Given the description of an element on the screen output the (x, y) to click on. 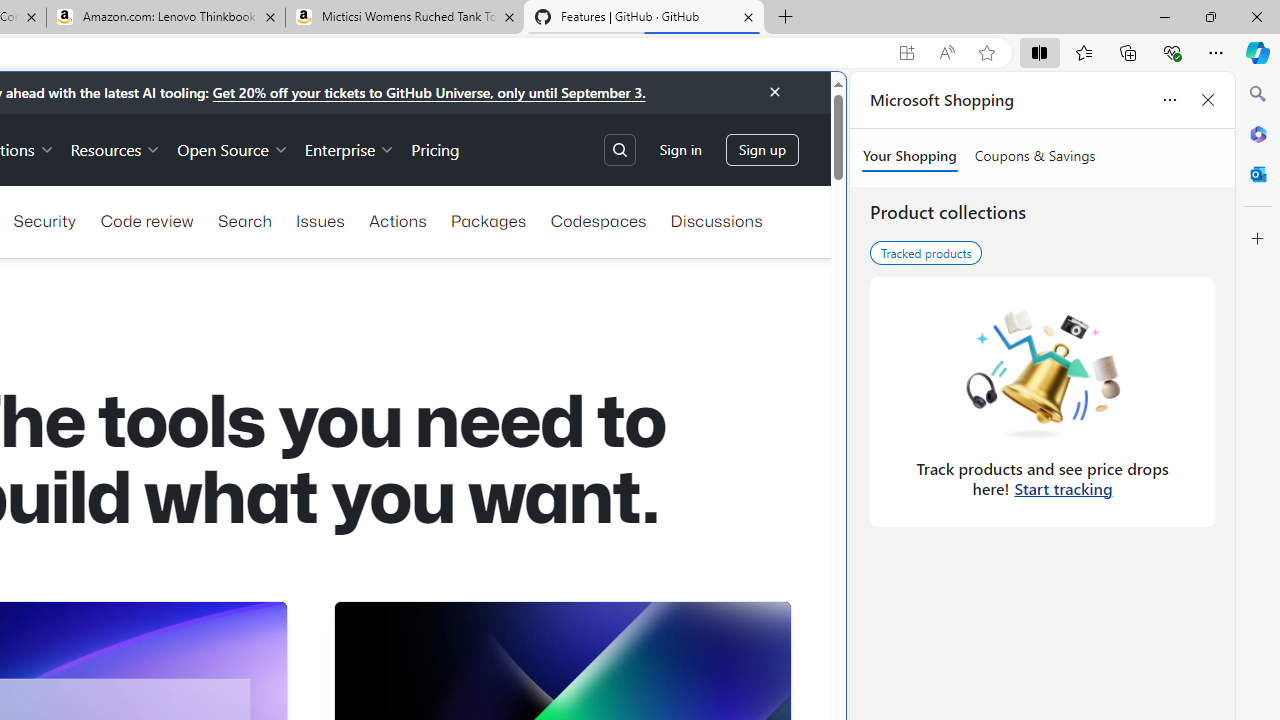
Codespaces (598, 220)
Resources (115, 148)
Customize (1258, 239)
Search (1258, 94)
Sign in (680, 149)
Discussions (715, 220)
Microsoft 365 (1258, 133)
Resources (115, 148)
Pricing (435, 148)
